Given the description of an element on the screen output the (x, y) to click on. 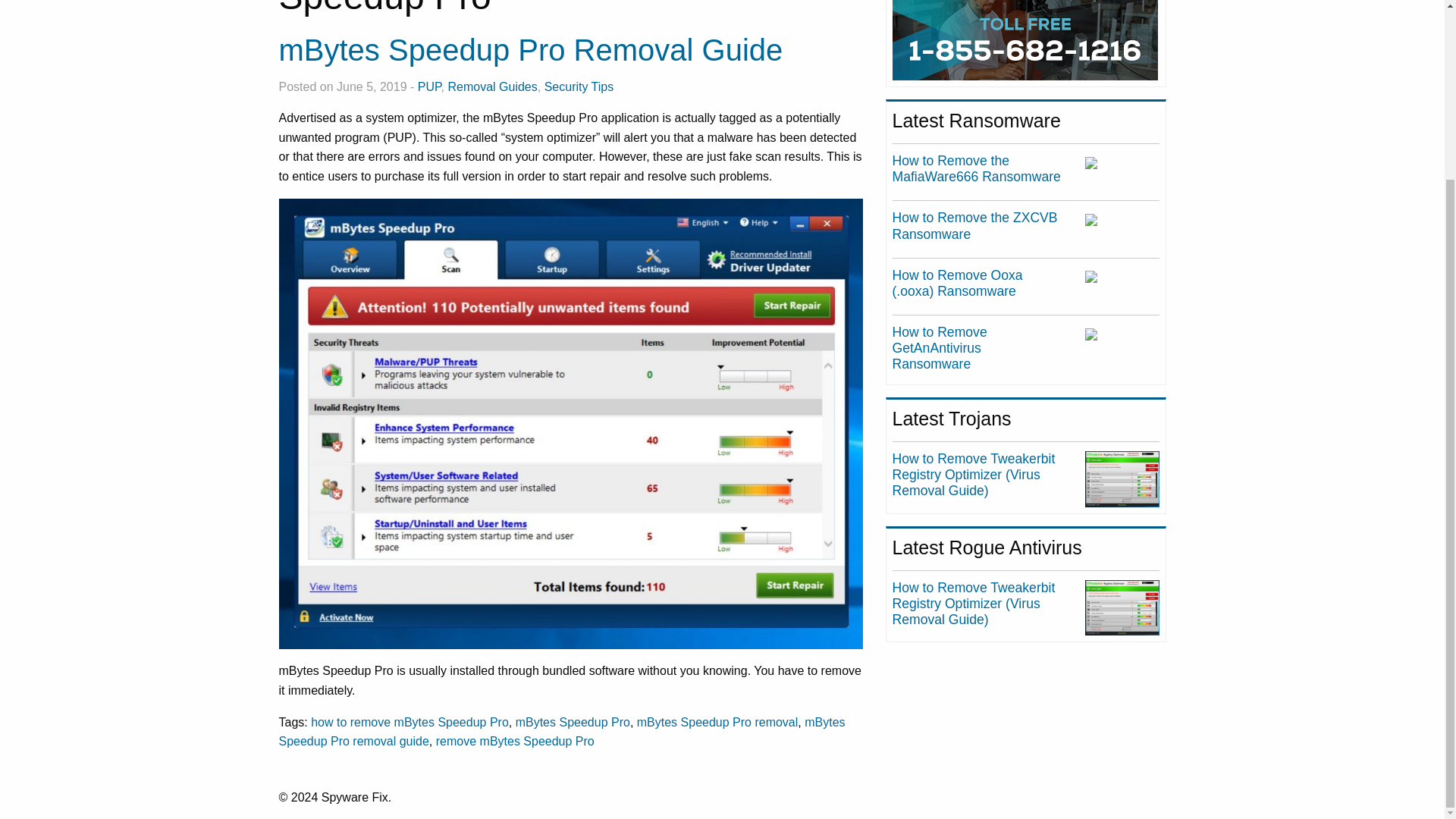
mBytes Speedup Pro Removal Guide (531, 49)
PUP (429, 86)
mBytes Speedup Pro removal (717, 721)
Security Tips (579, 86)
How to Remove GetAnAntivirus Ransomware (939, 347)
Removal Guides (491, 86)
How to Remove the ZXCVB Ransomware (975, 224)
mBytes Speedup Pro (572, 721)
how to remove mBytes Speedup Pro (409, 721)
mBytes Speedup Pro removal guide (562, 730)
